Given the description of an element on the screen output the (x, y) to click on. 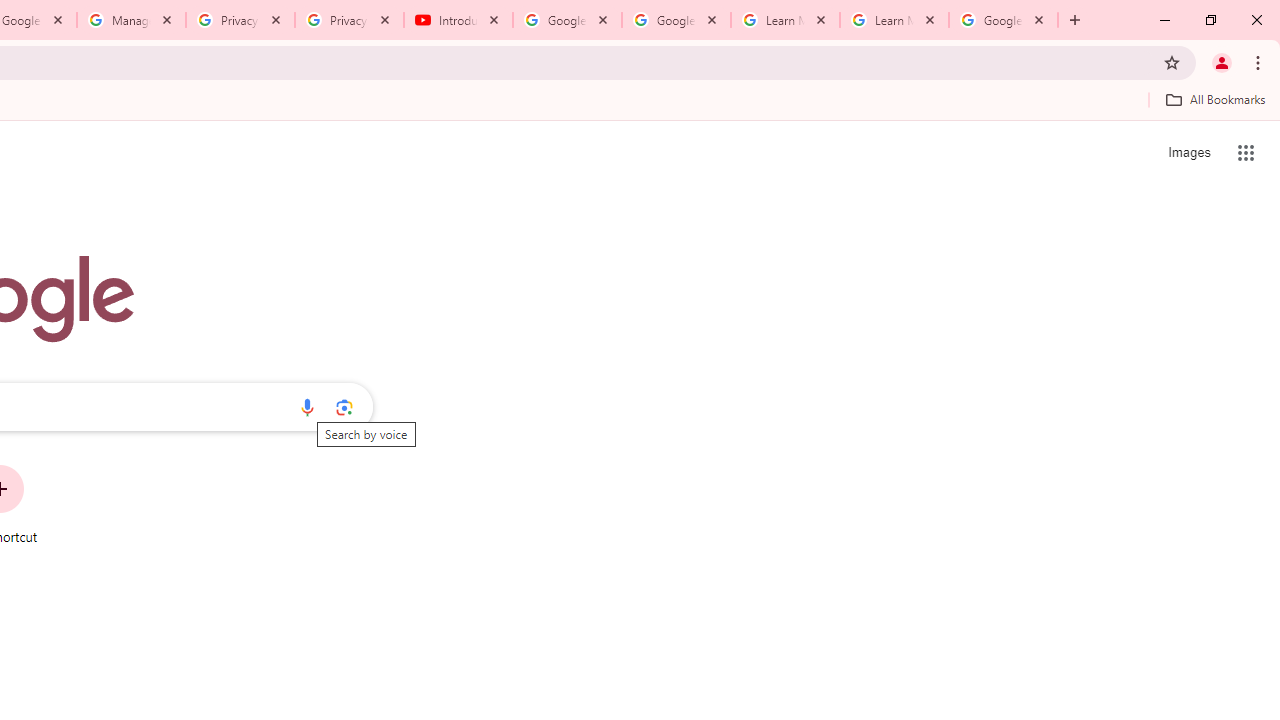
Introduction | Google Privacy Policy - YouTube (458, 20)
